Given the description of an element on the screen output the (x, y) to click on. 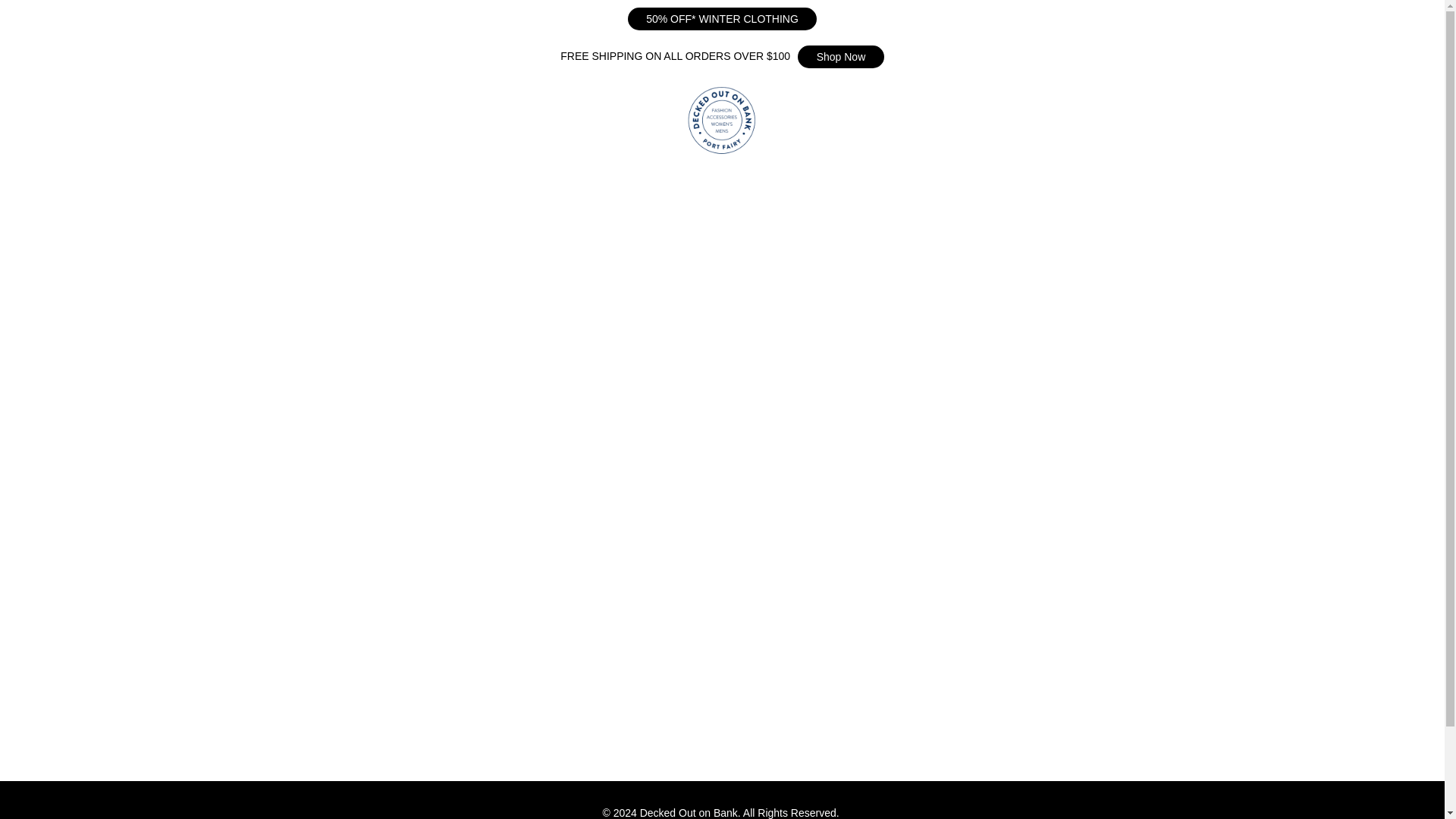
Shop Now (840, 56)
